Given the description of an element on the screen output the (x, y) to click on. 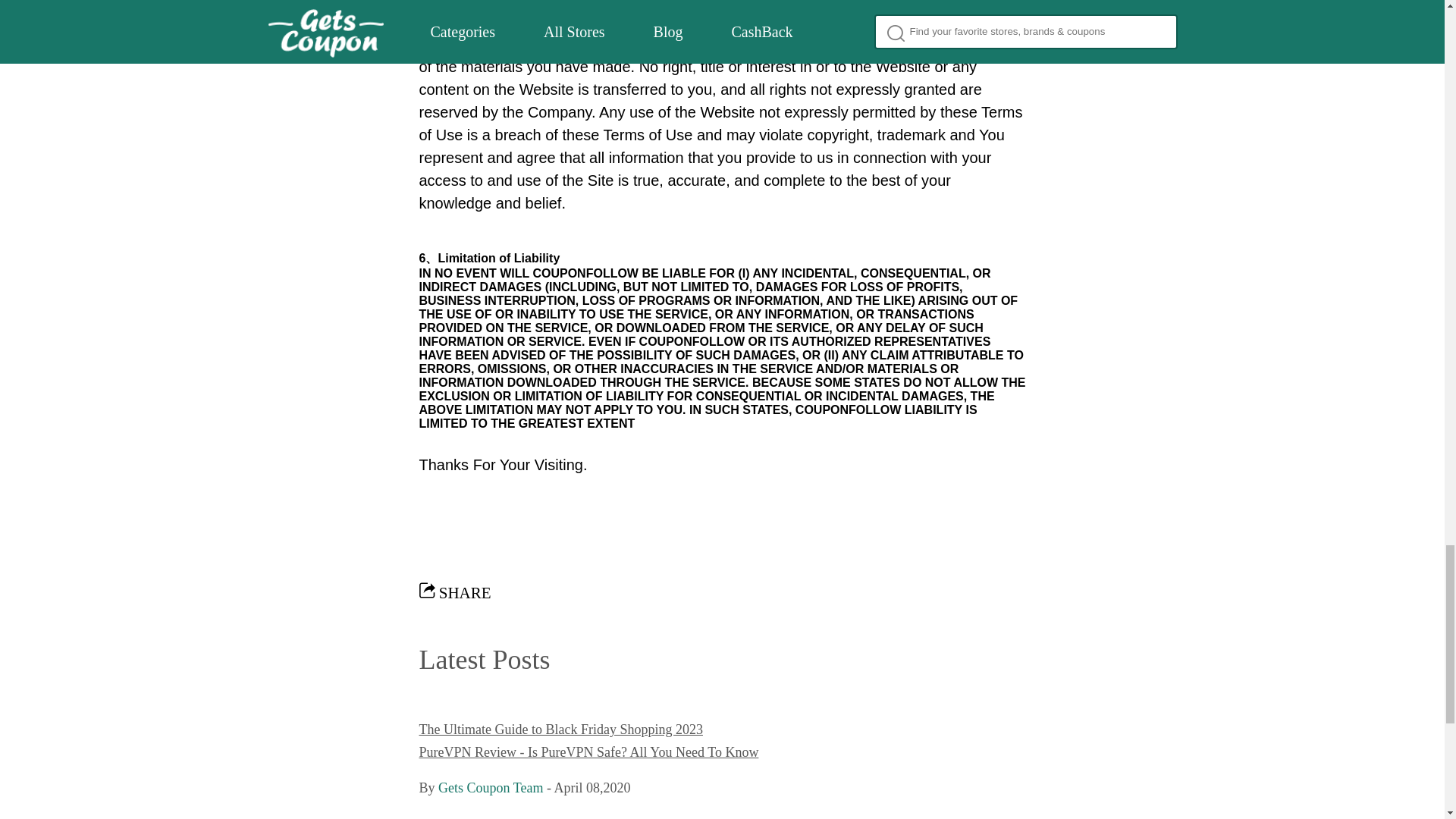
PureVPN Review - Is PureVPN Safe? All You Need To Know (588, 752)
The Ultimate Guide to Black Friday Shopping 2023 (560, 729)
